Given the description of an element on the screen output the (x, y) to click on. 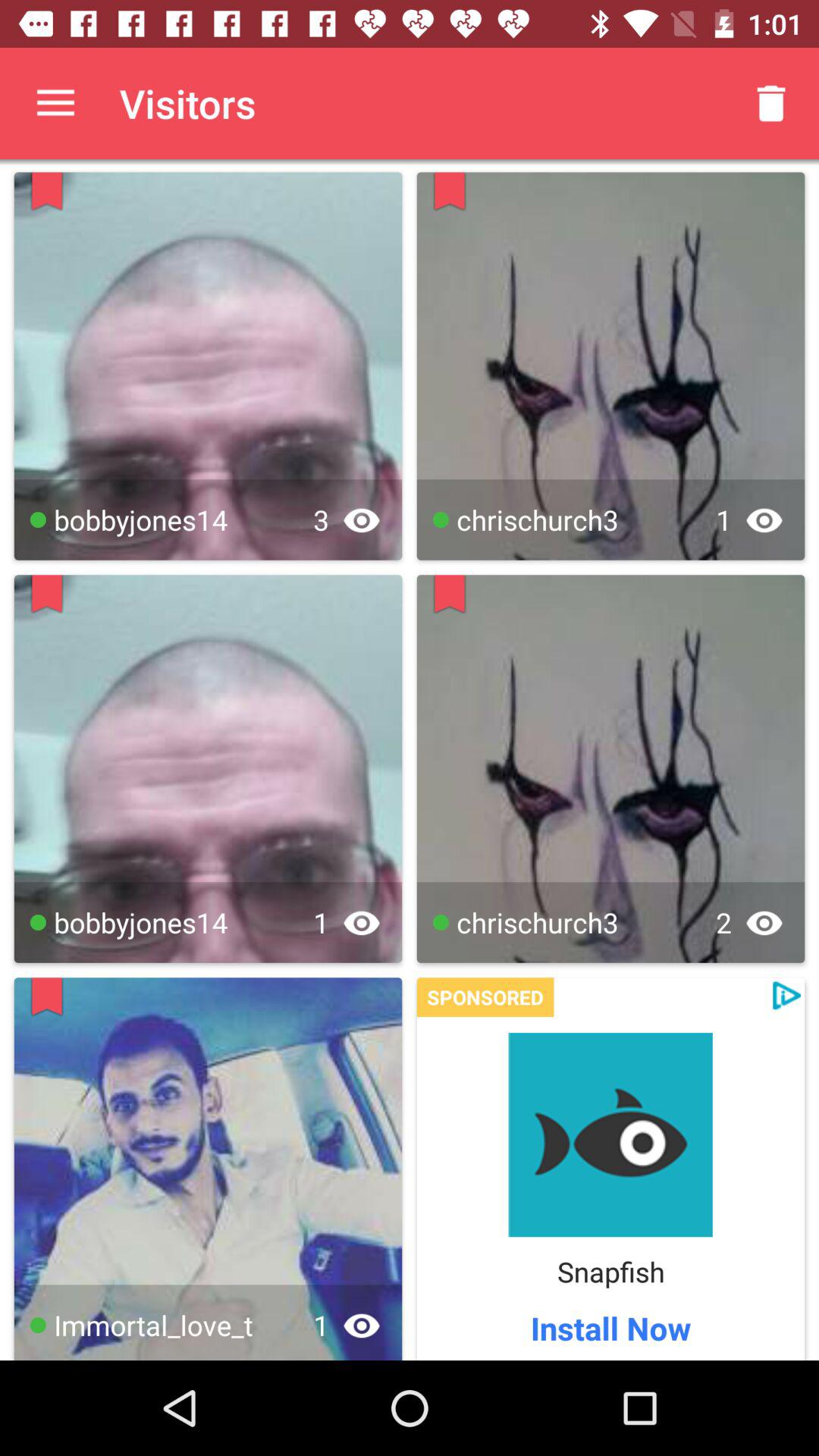
click the item below the snapfish app (610, 1327)
